Given the description of an element on the screen output the (x, y) to click on. 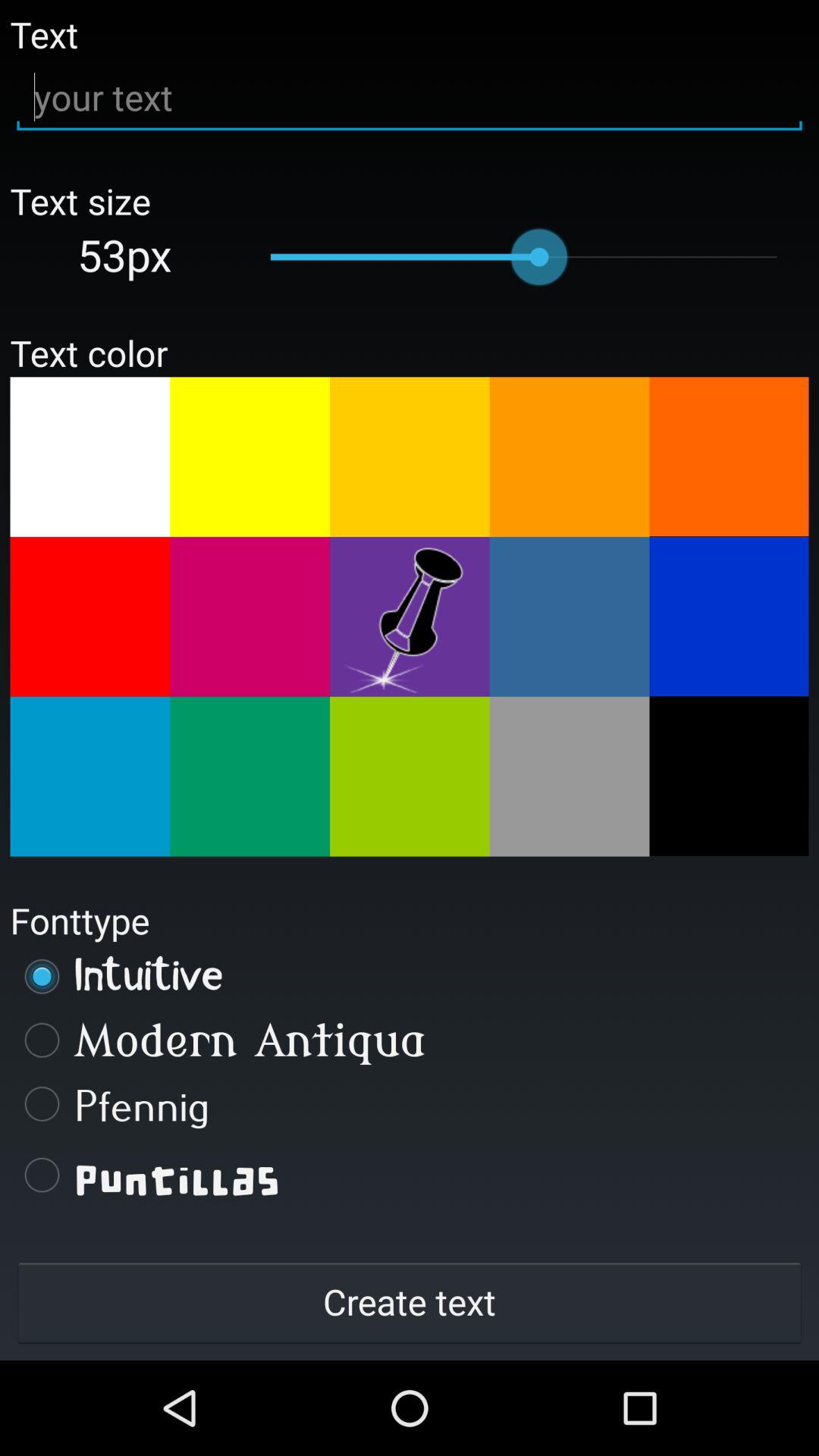
change color (409, 456)
